Given the description of an element on the screen output the (x, y) to click on. 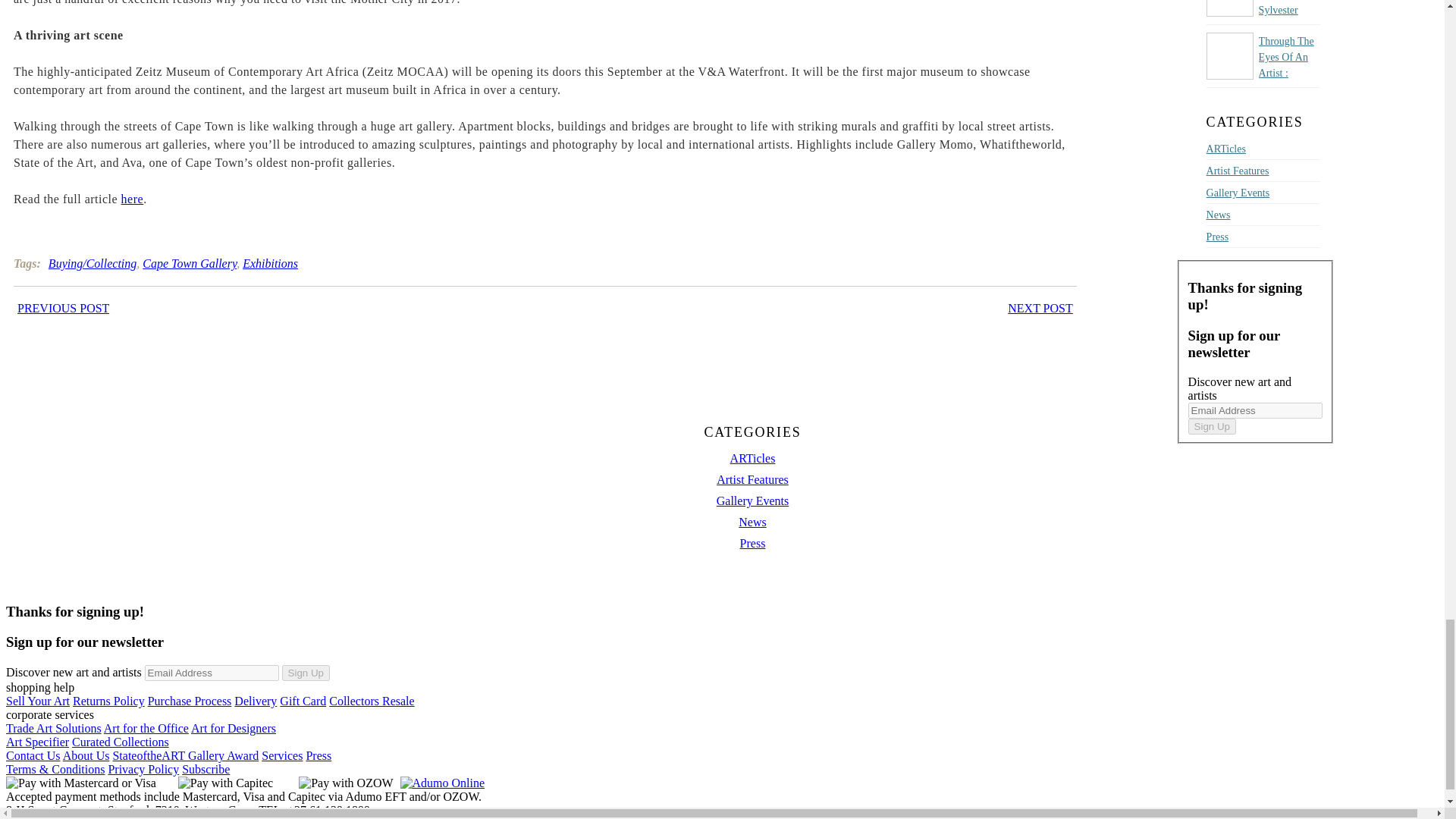
Sign Up (306, 672)
Returns Policy (108, 700)
Delivery (255, 700)
Sign Up (1212, 426)
Purchase Process (189, 700)
